Given the description of an element on the screen output the (x, y) to click on. 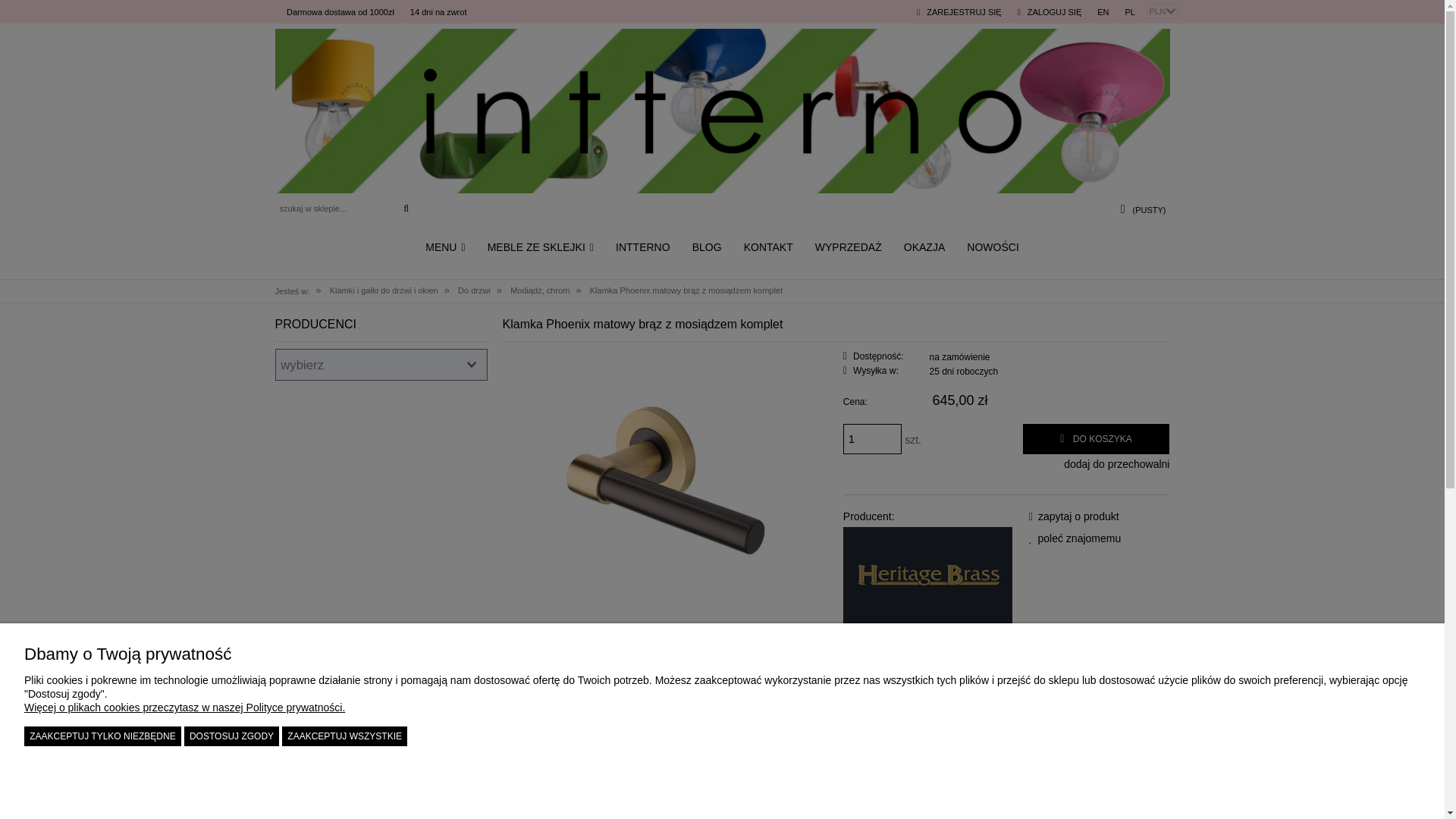
Koszyk (1149, 209)
1 (872, 439)
Menu (446, 246)
MENU (446, 246)
